Given the description of an element on the screen output the (x, y) to click on. 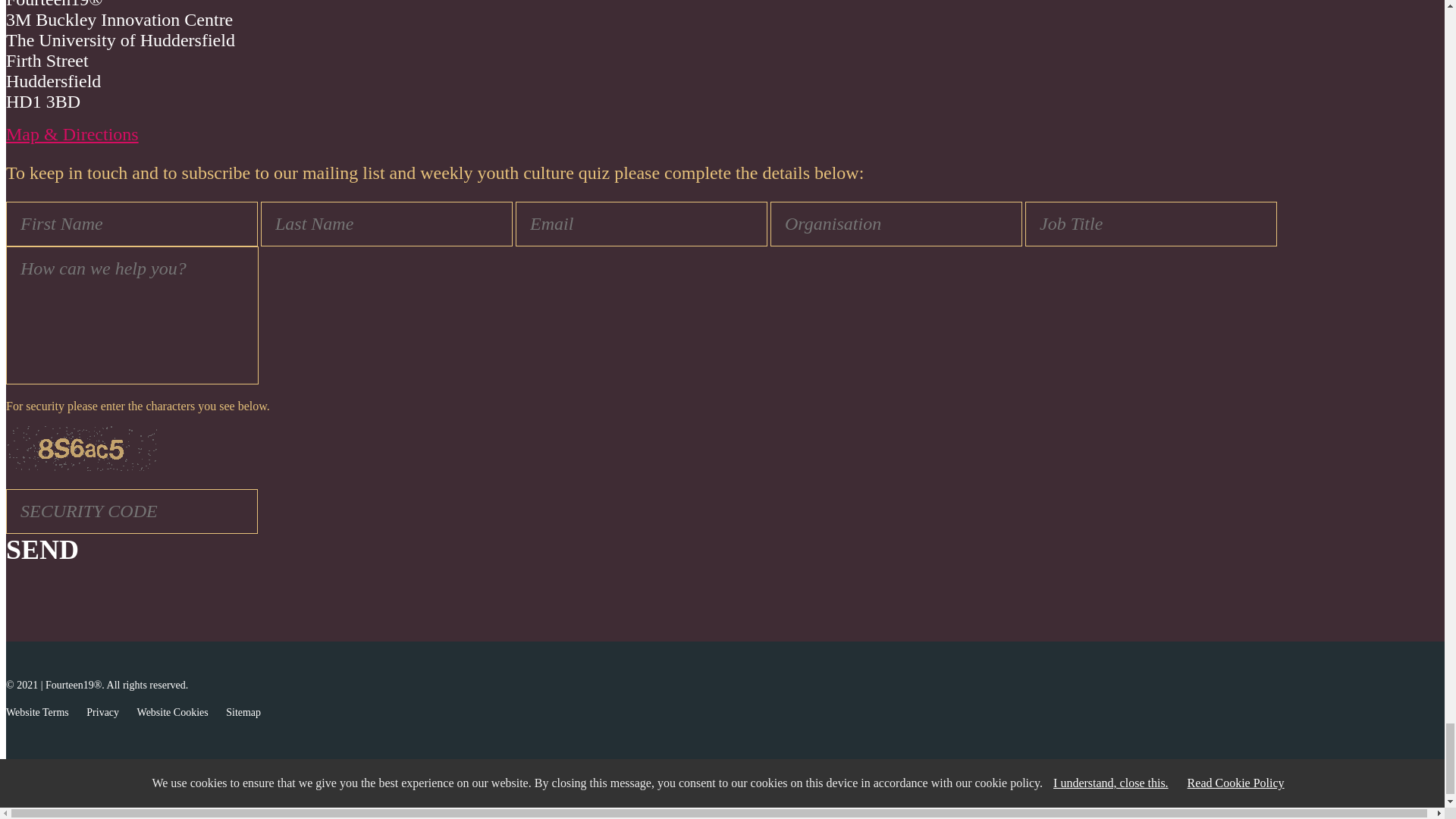
send (41, 549)
